Given the description of an element on the screen output the (x, y) to click on. 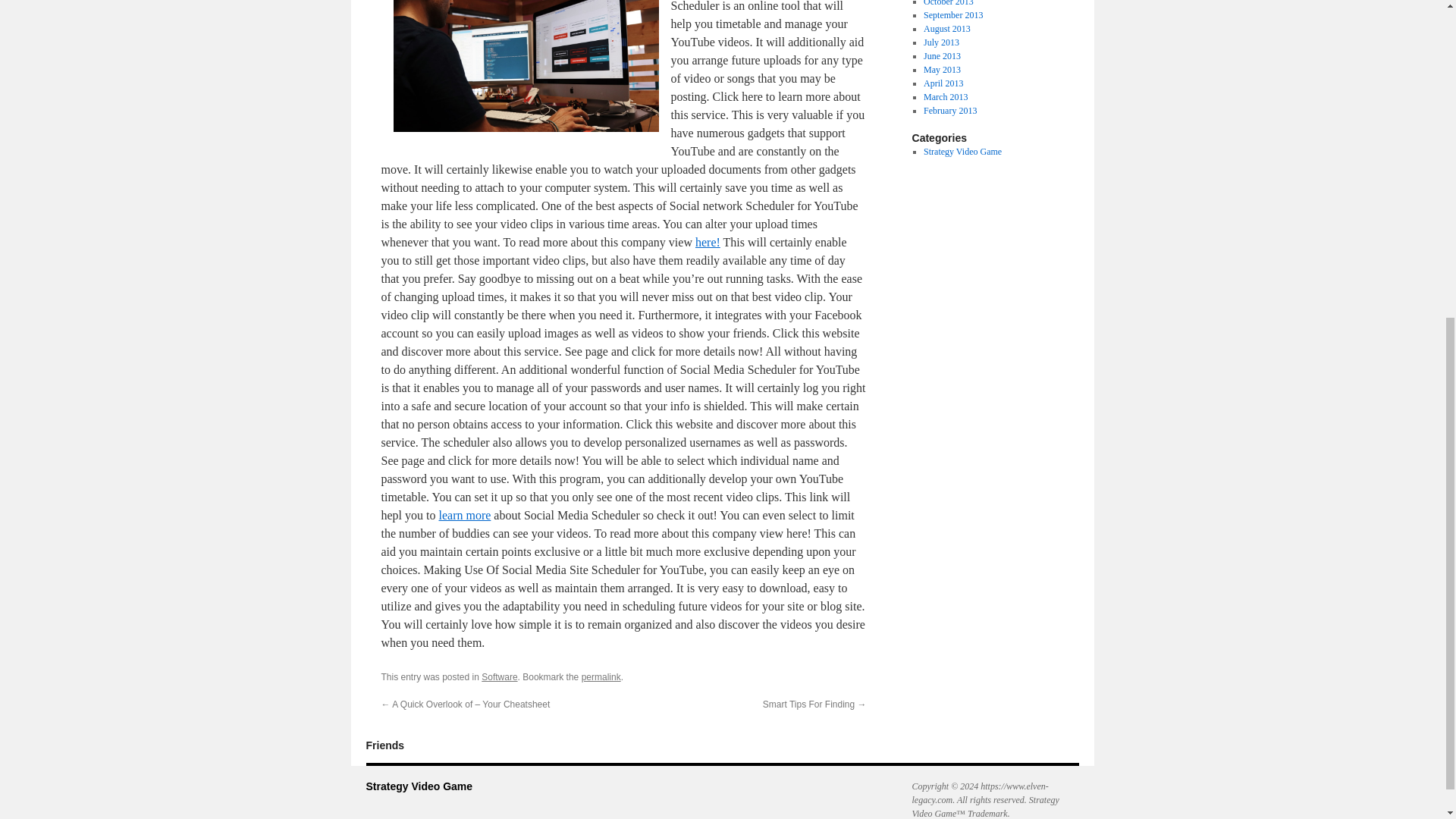
August 2013 (947, 28)
Software (498, 676)
Strategy Video Game (418, 786)
learn more (464, 514)
Strategy Video Game (418, 786)
February 2013 (949, 110)
View all posts filed under Strategy Video Game (962, 151)
September 2013 (952, 14)
Strategy Video Game (962, 151)
May 2013 (941, 69)
April 2013 (942, 82)
Permalink to Why No One Talks About  Anymore (600, 676)
June 2013 (941, 55)
here! (707, 241)
July 2013 (941, 41)
